Given the description of an element on the screen output the (x, y) to click on. 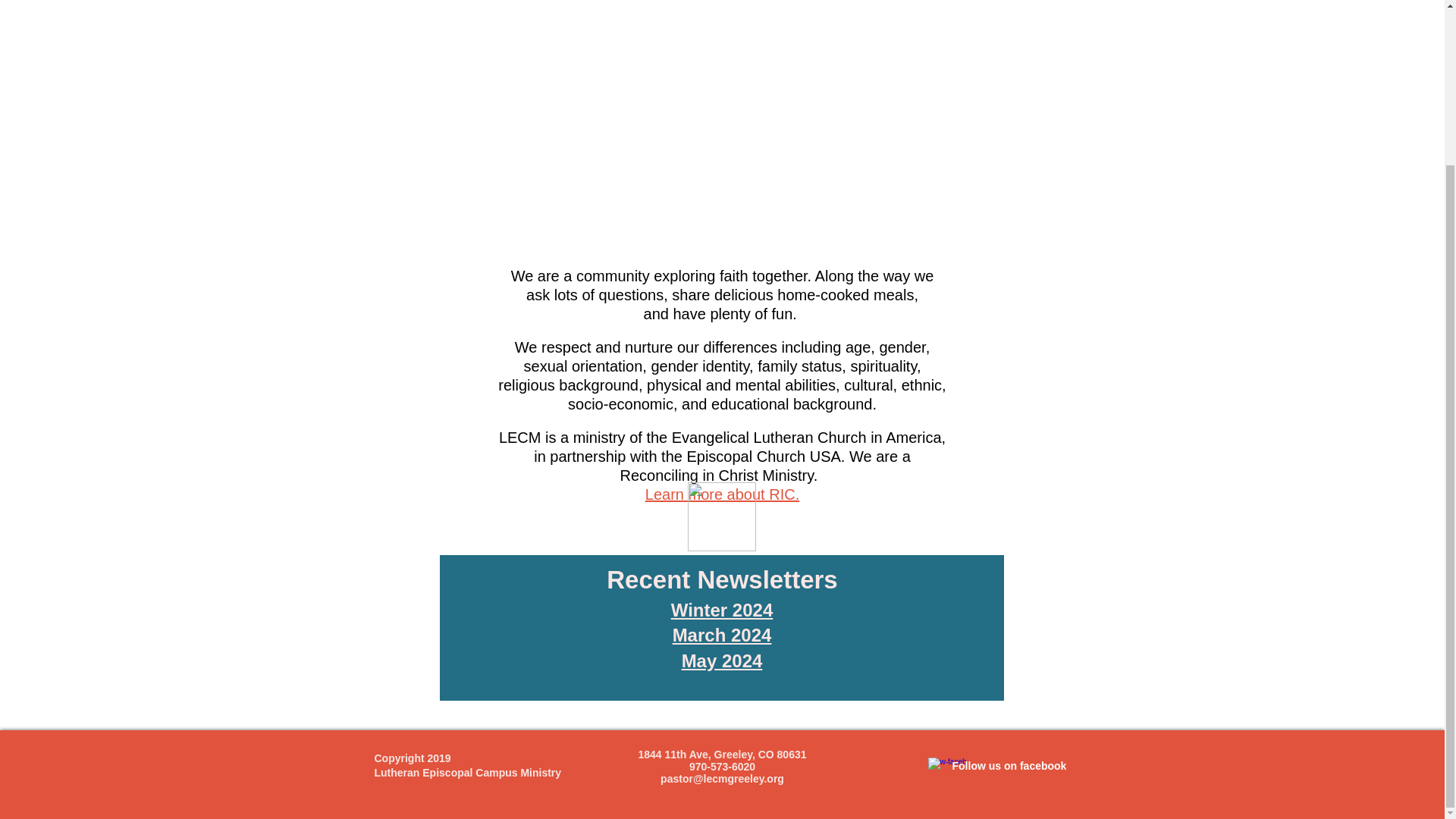
Learn more about RIC. (722, 494)
May 2024 (721, 660)
unnamed.png (721, 516)
Winter 2024 (722, 609)
unc winter retreat.jpg (722, 127)
March 2024 (721, 634)
